Given the description of an element on the screen output the (x, y) to click on. 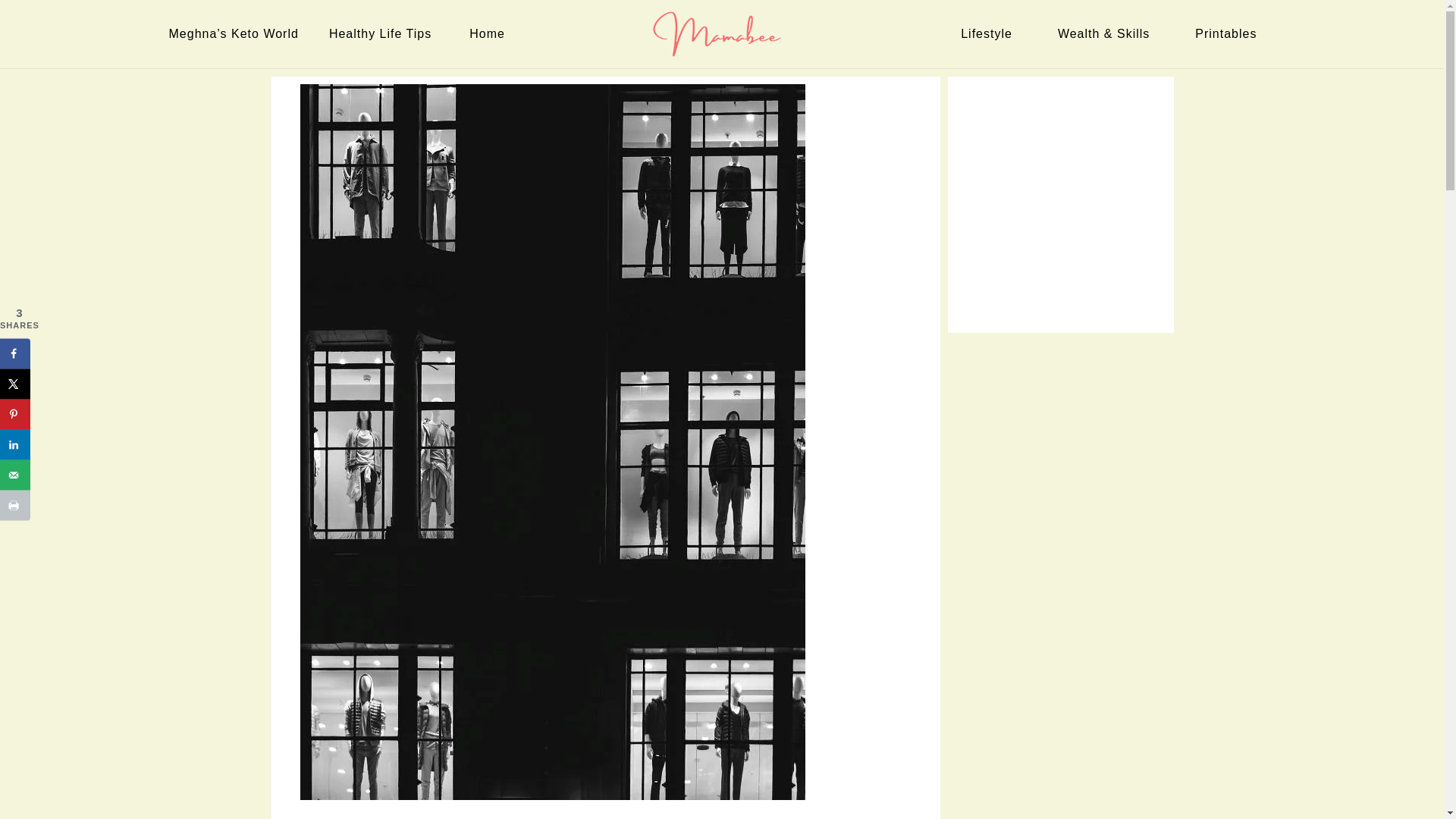
Share on X (15, 383)
Home (490, 33)
Share on Facebook (15, 353)
Lifestyle (989, 33)
Save to Pinterest (15, 413)
Healthy Life Tips (383, 33)
